Given the description of an element on the screen output the (x, y) to click on. 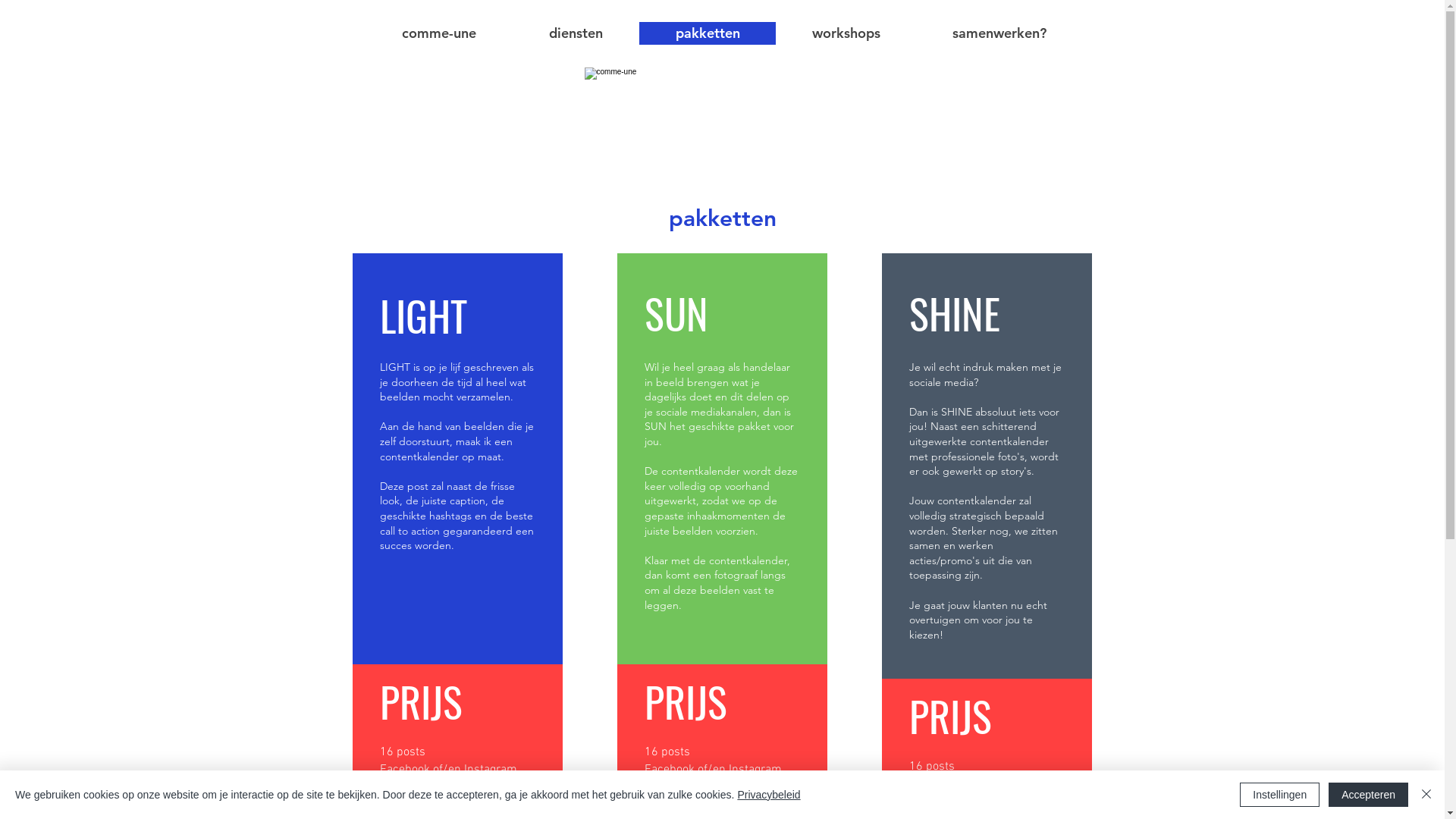
samenwerken? Element type: text (999, 32)
diensten Element type: text (575, 32)
comme-une Element type: text (438, 32)
Accepteren Element type: text (1368, 794)
Privacybeleid Element type: text (768, 794)
Instellingen Element type: text (1279, 794)
pakketten Element type: text (706, 32)
workshops Element type: text (845, 32)
